Given the description of an element on the screen output the (x, y) to click on. 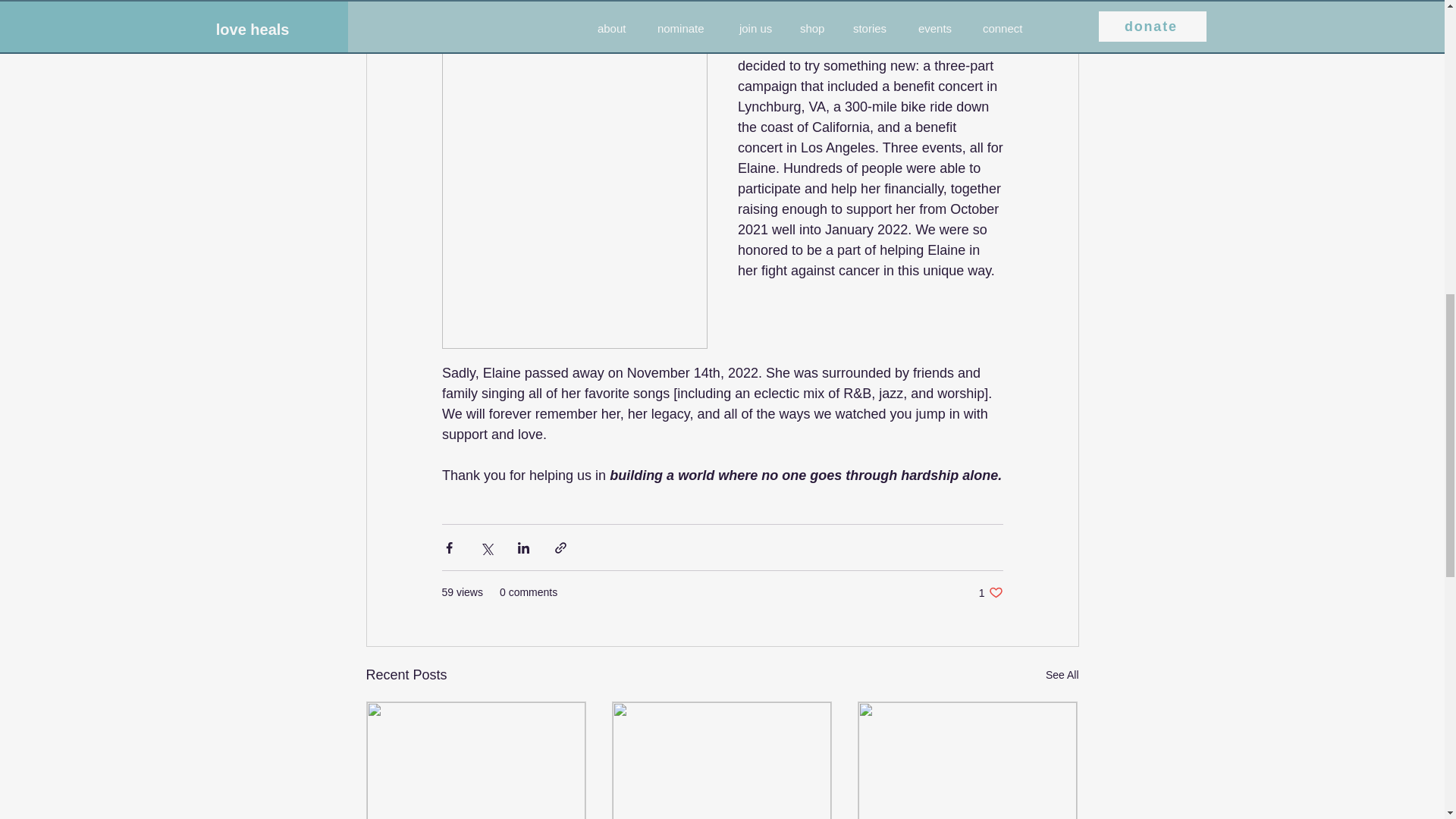
See All (990, 592)
